Given the description of an element on the screen output the (x, y) to click on. 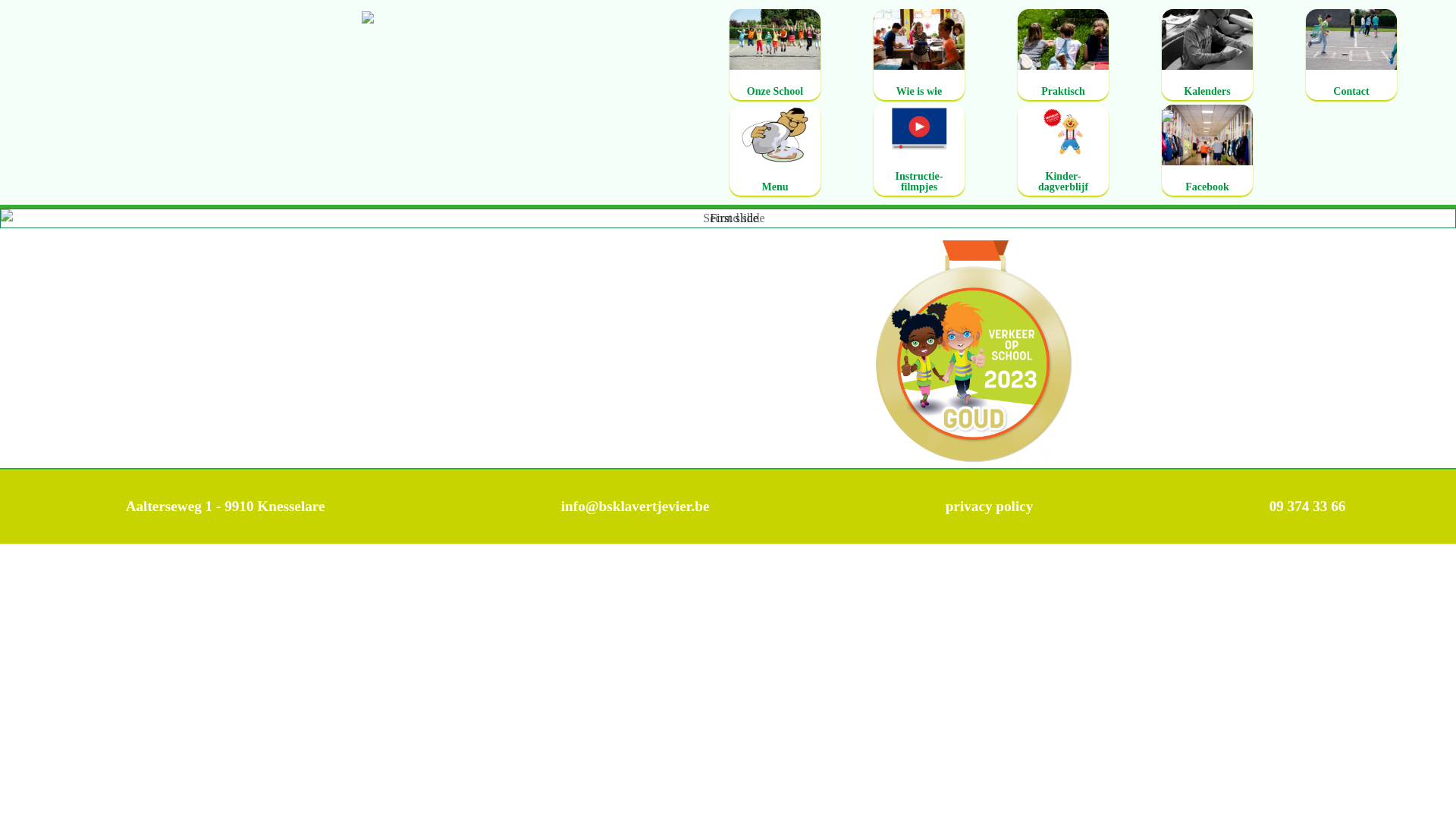
privacy policy Element type: text (989, 506)
Kalenders Element type: text (1206, 54)
Onze School Element type: text (774, 54)
Instructie-
filmpjes Element type: text (918, 149)
Contact Element type: text (1350, 54)
Wie is wie Element type: text (918, 54)
info@bsklavertjevier.be Element type: text (635, 506)
Kinder-
dagverblijf Element type: text (1062, 149)
Facebook Element type: text (1206, 149)
Praktisch Element type: text (1062, 54)
Menu Element type: text (774, 149)
